Given the description of an element on the screen output the (x, y) to click on. 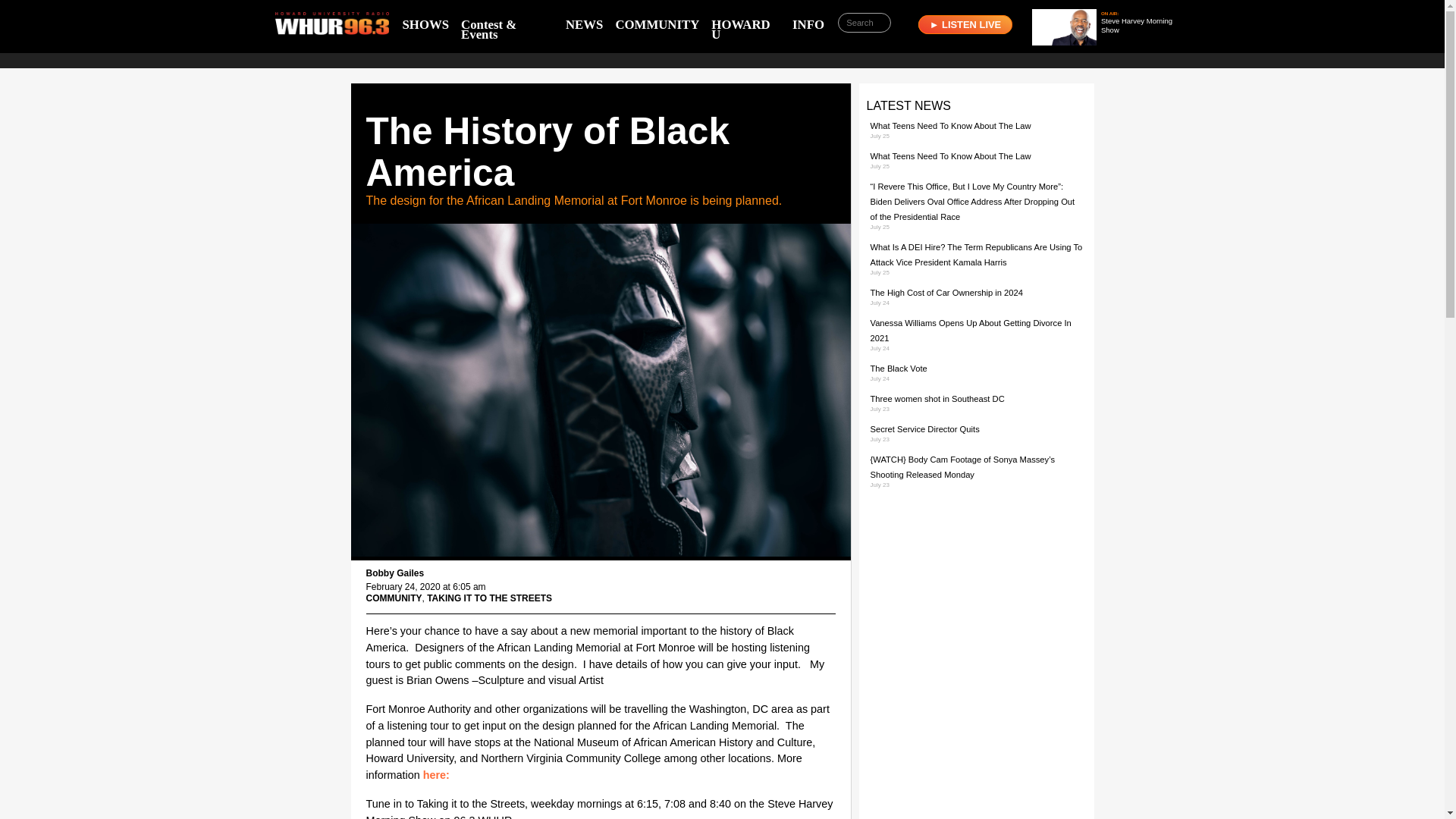
Permanent Link to What Teens Need To Know About The Law (950, 155)
WHUR 96.3 FM (331, 27)
Search for: (864, 22)
SHOWS (425, 24)
TAKING IT TO THE STREETS (488, 597)
Permanent Link to The Black Vote (898, 368)
HOWARD U (745, 29)
Permanent Link to What Teens Need To Know About The Law (950, 125)
Bobby Gailes (394, 573)
Permanent Link to The High Cost of Car Ownership in 2024 (946, 292)
INFO (807, 24)
here:   (439, 775)
Posts by Bobby Gailes (394, 573)
COMMUNITY (393, 597)
